Given the description of an element on the screen output the (x, y) to click on. 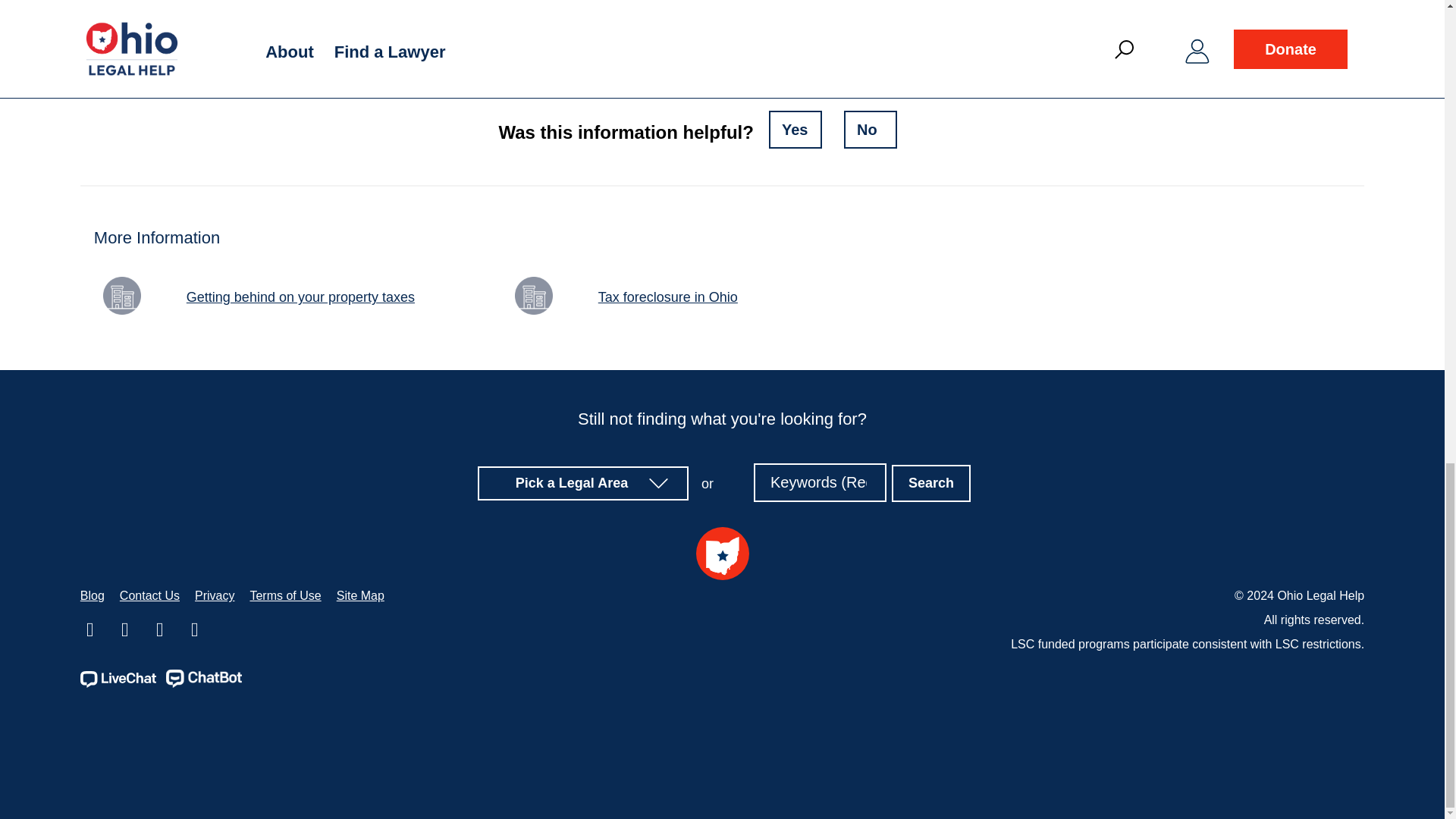
Search (931, 483)
Pick a Legal Area (583, 482)
Tax foreclosure in Ohio (641, 297)
Getting behind on your property taxes (274, 297)
